Given the description of an element on the screen output the (x, y) to click on. 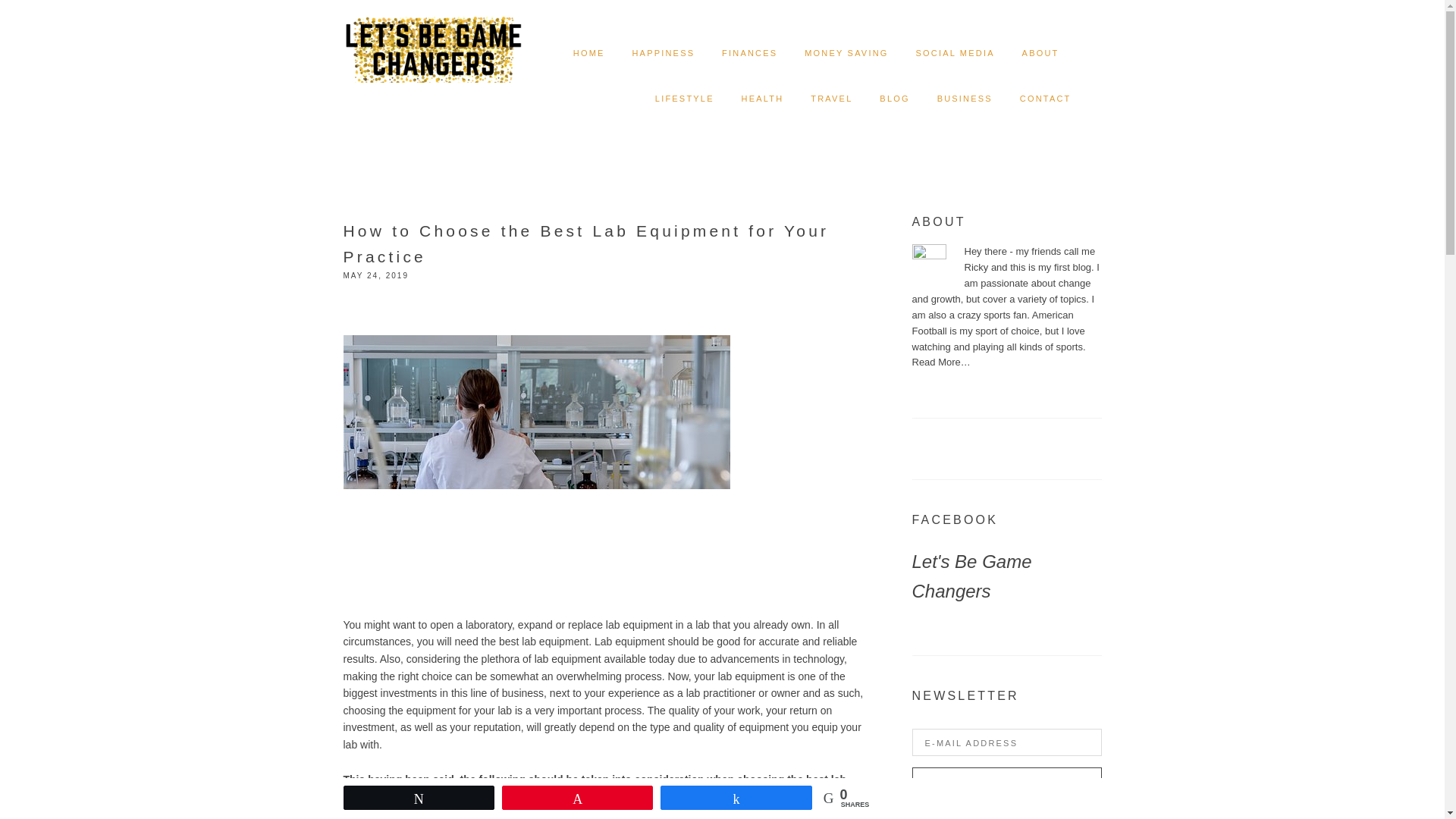
Go (1005, 783)
LIFESTYLE (684, 98)
SOCIAL MEDIA (954, 53)
CONTACT (1045, 98)
HAPPINESS (662, 53)
BUSINESS (964, 98)
TRAVEL (830, 98)
HEALTH (762, 98)
lab equipment is one of the biggest investments (593, 685)
FINANCES (749, 53)
